Given the description of an element on the screen output the (x, y) to click on. 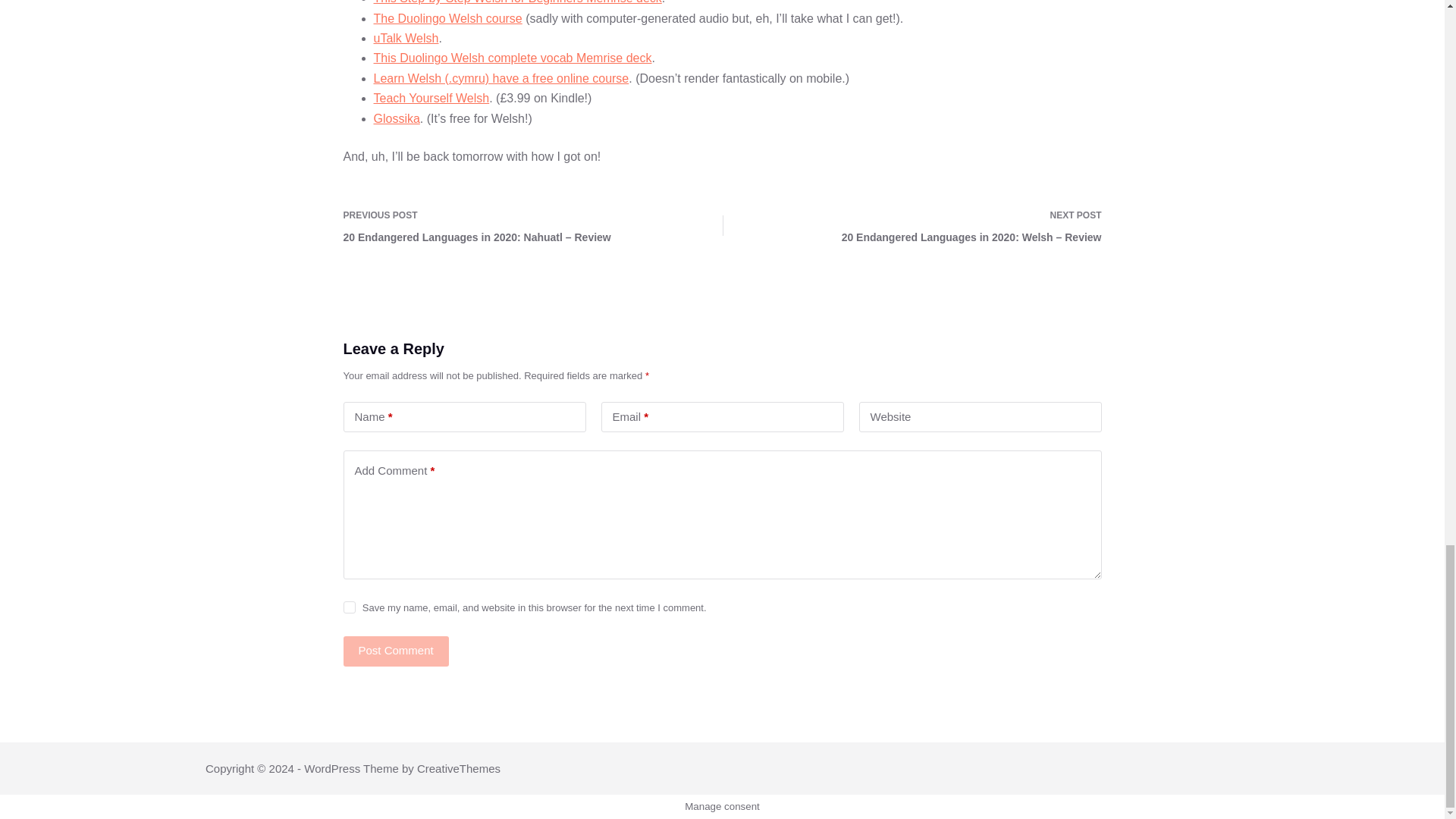
yes (348, 607)
This Step-by-Step Welsh for Beginners Memrise deck (516, 2)
uTalk Welsh (405, 38)
This Duolingo Welsh complete vocab Memrise deck (511, 57)
The Duolingo Welsh course (446, 18)
Teach Yourself Welsh (430, 97)
Glossika (395, 118)
